Given the description of an element on the screen output the (x, y) to click on. 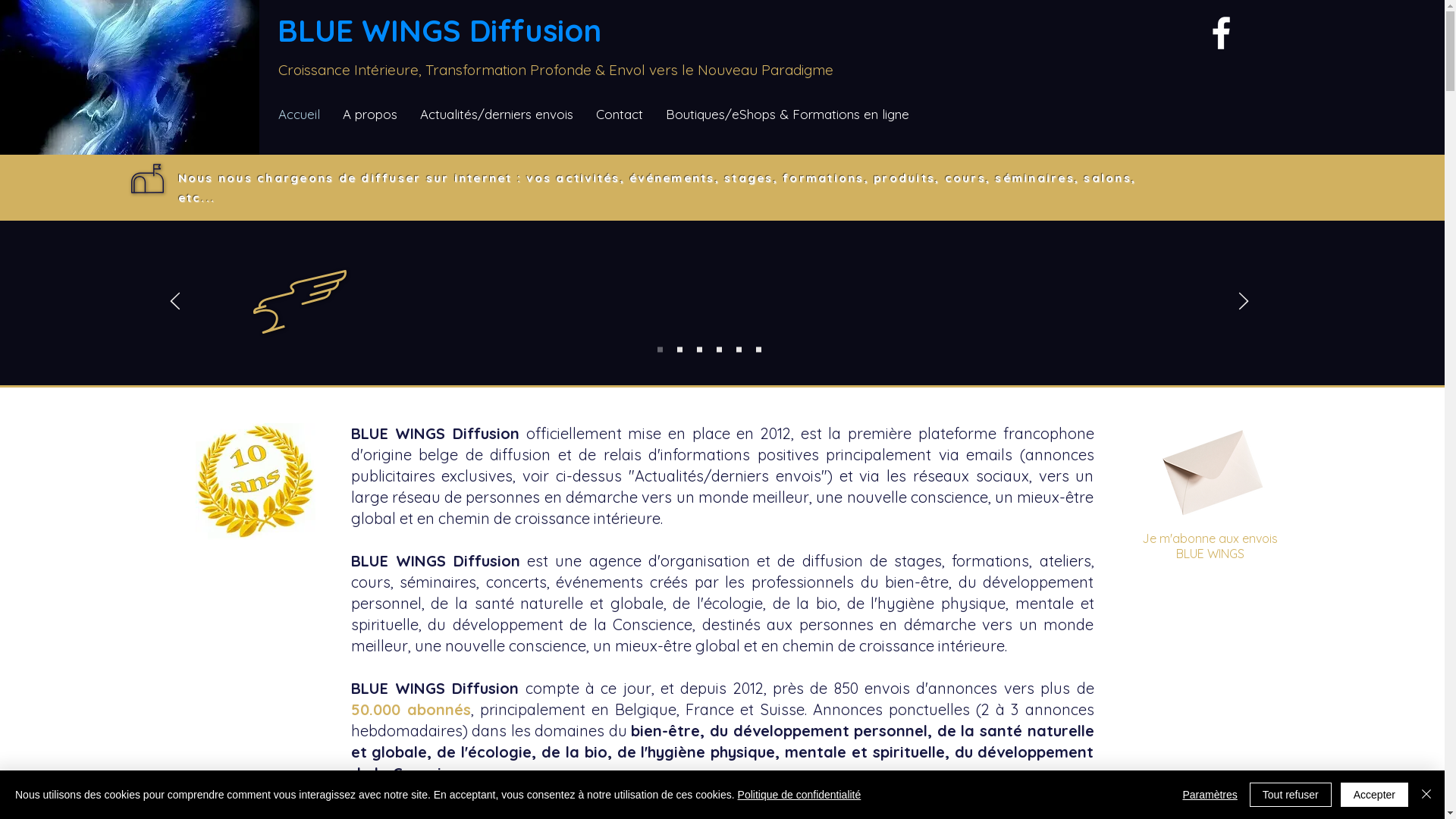
Je m'abonne aux envois BLUE WINGS Element type: hover (1209, 464)
Accueil Element type: text (298, 114)
Contact Element type: text (619, 114)
Je m'abonne aux envois Element type: text (1209, 538)
A propos Element type: text (369, 114)
Accepter Element type: text (1374, 794)
Tout refuser Element type: text (1290, 794)
BLUE WINGS Element type: text (1209, 553)
BLUE WINGS Diffusion Element type: text (439, 30)
